Given the description of an element on the screen output the (x, y) to click on. 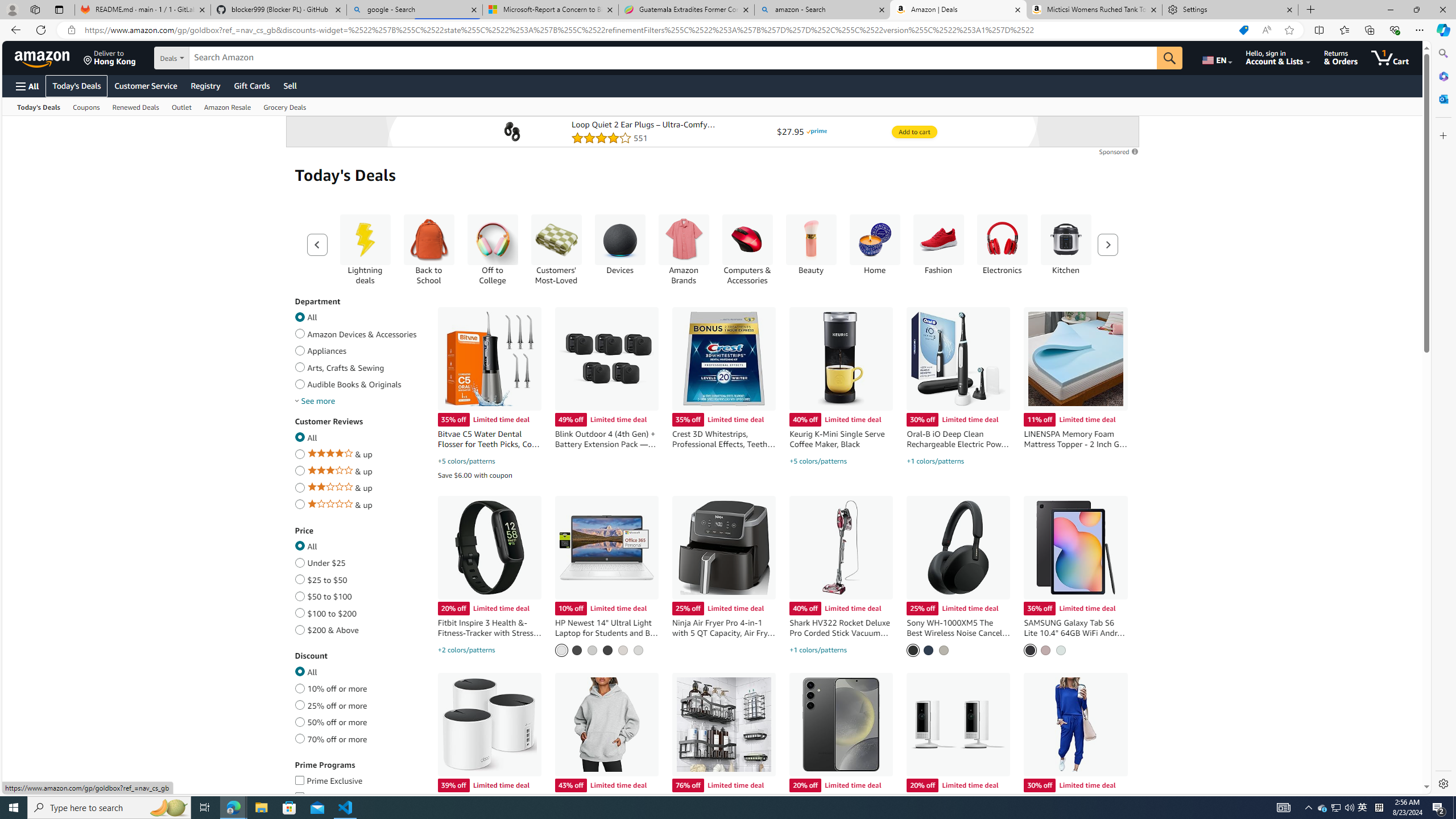
See more filter options (314, 401)
Customer Service (145, 85)
Beauty (810, 249)
Snowflake White (560, 649)
Next (1107, 244)
Fashion Fashion (938, 244)
Outlet (181, 106)
Average review star rating of 1 and up (299, 502)
Off to College Off to College (492, 249)
Choose a language for shopping. (1216, 57)
